Given the description of an element on the screen output the (x, y) to click on. 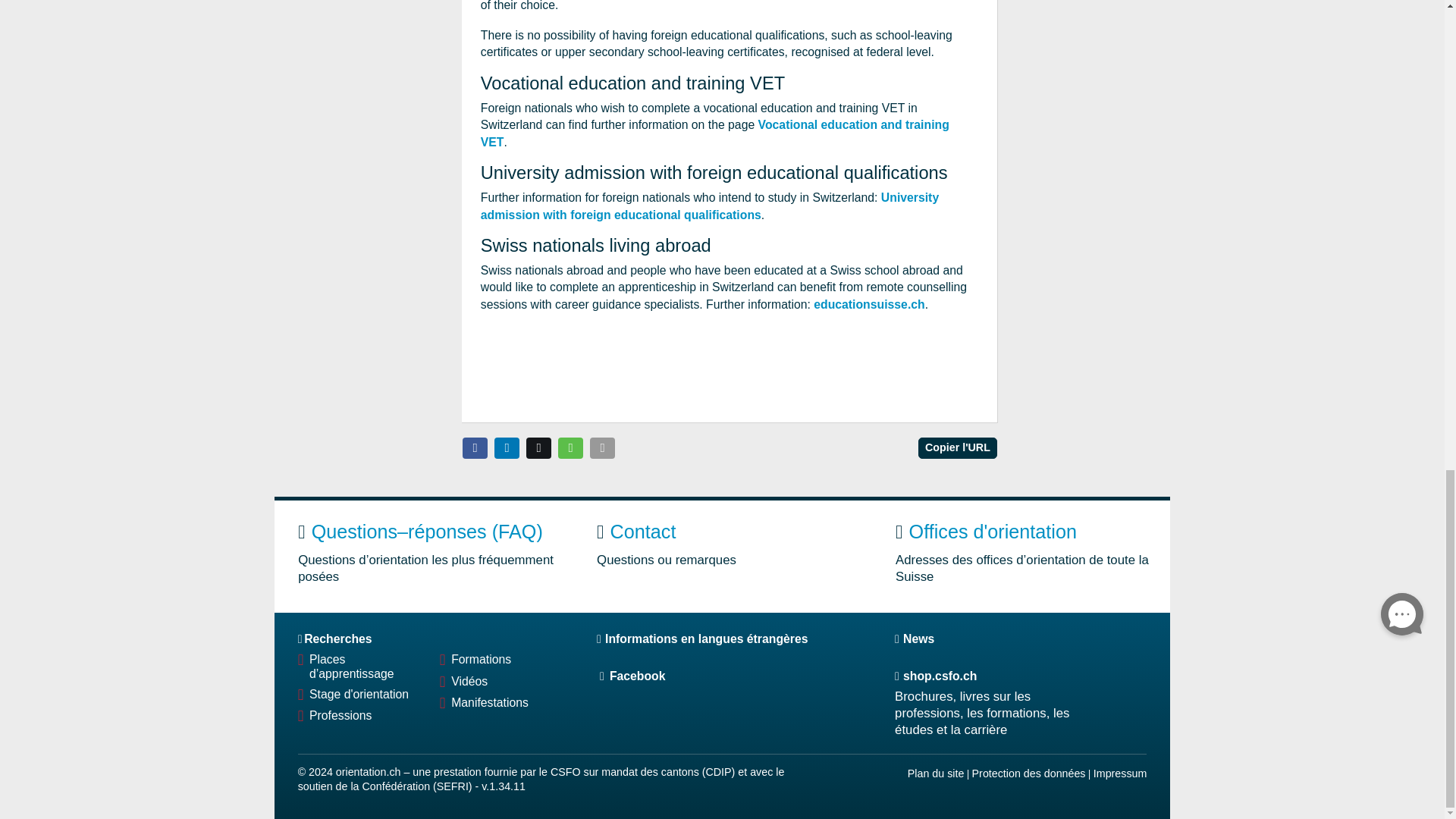
Envoyer par courriel (602, 447)
Partager sur Twitter (538, 447)
Partager sur Whatsapp (570, 447)
Partager sur Facebook (475, 447)
Partager sur LinkedIn (507, 447)
